Given the description of an element on the screen output the (x, y) to click on. 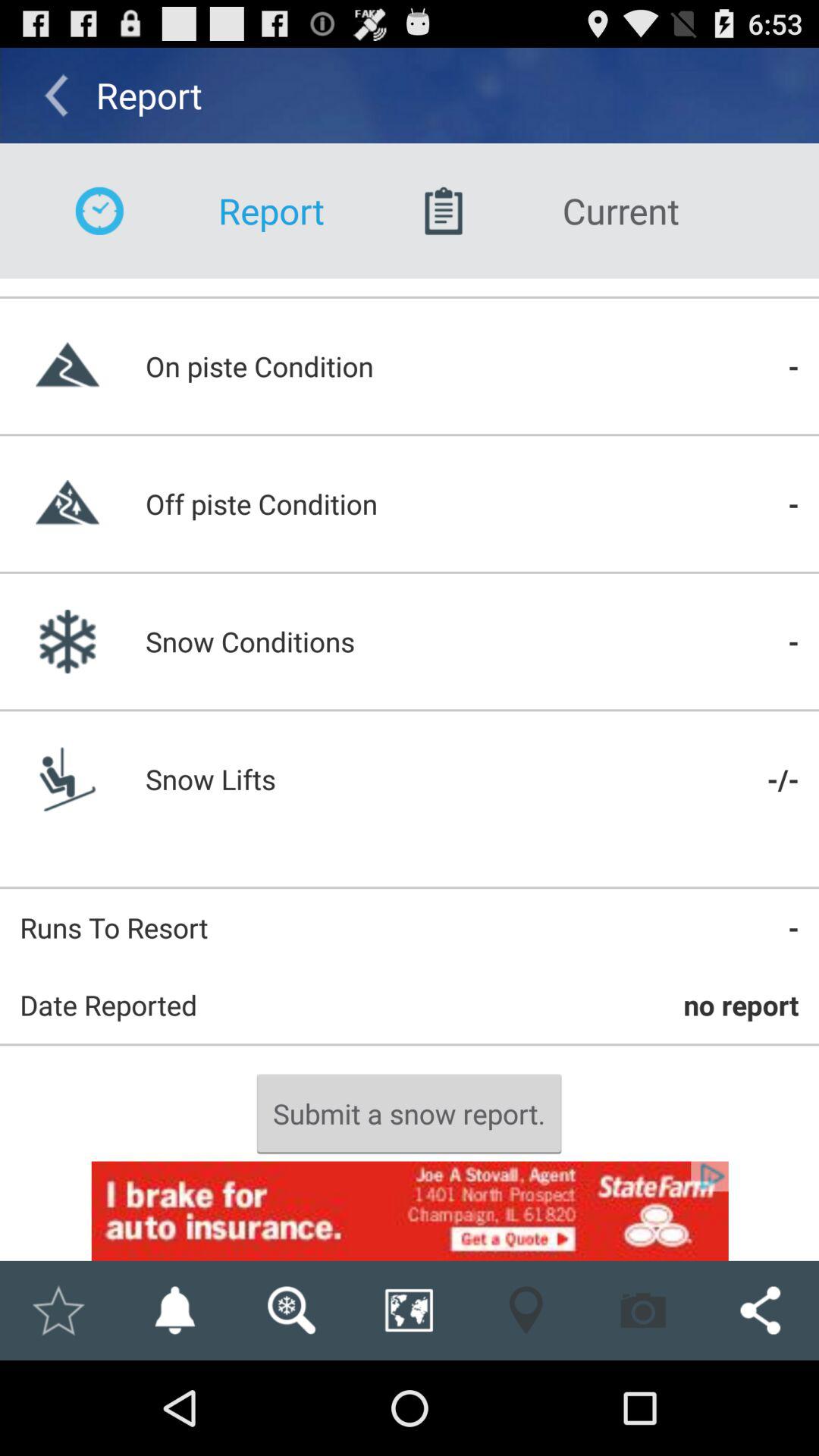
select the advertisement (409, 1210)
